Given the description of an element on the screen output the (x, y) to click on. 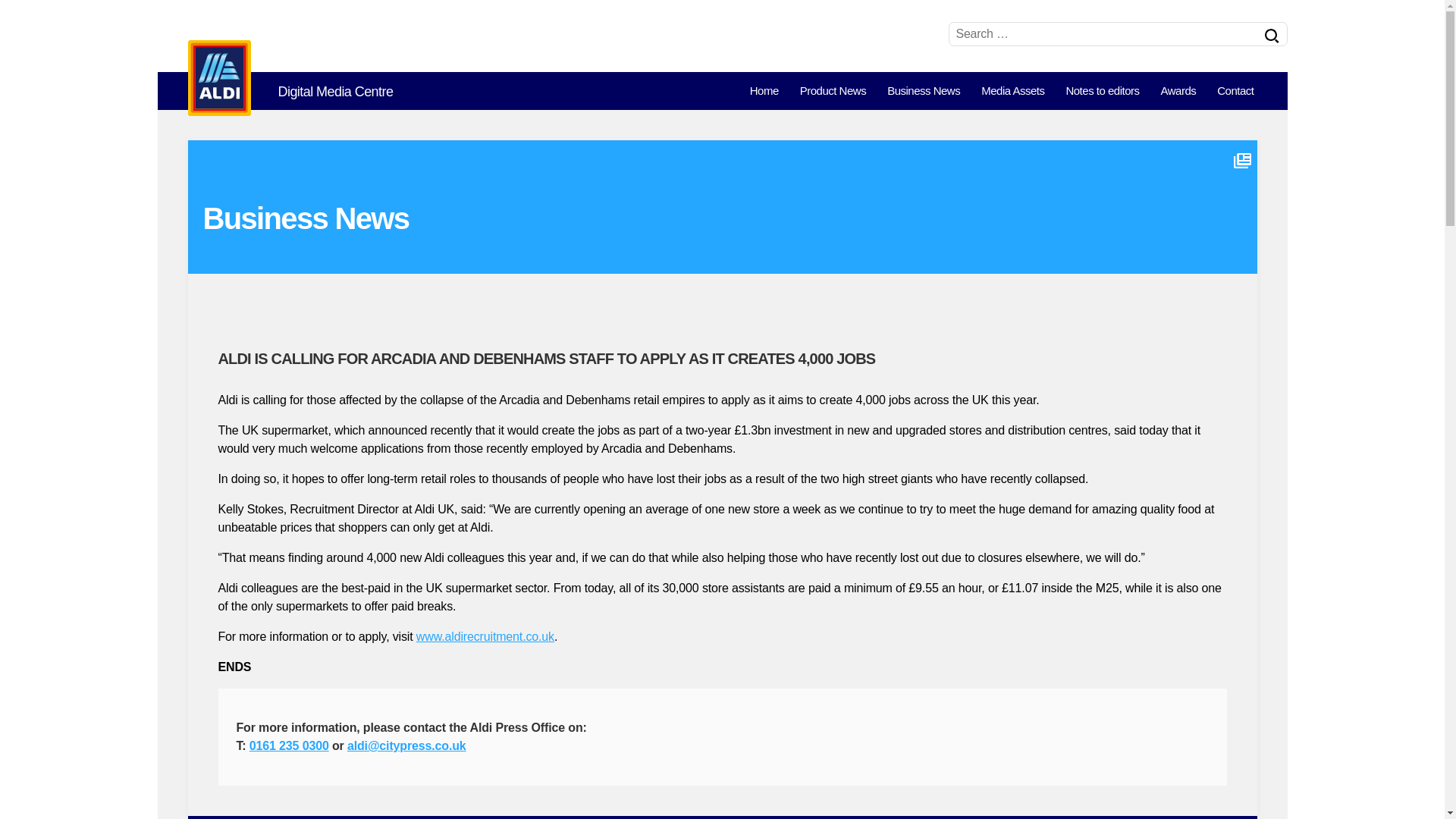
Product News (832, 90)
0161 235 0300 (288, 745)
Business News (923, 90)
Home (764, 90)
Media Assets (1012, 90)
www.aldirecruitment.co.uk (485, 635)
